Given the description of an element on the screen output the (x, y) to click on. 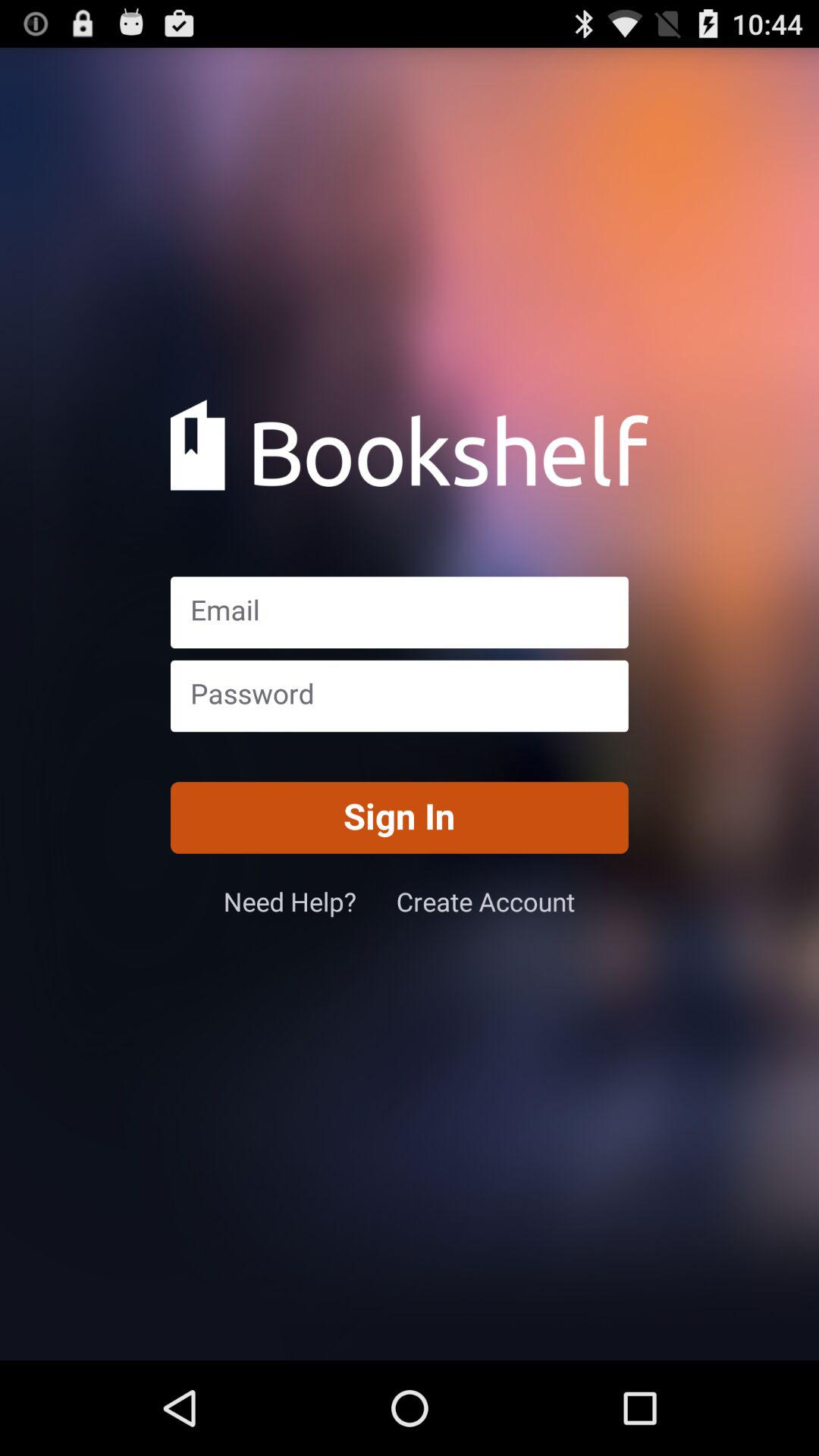
tap button to the right of the need help? button (485, 901)
